Given the description of an element on the screen output the (x, y) to click on. 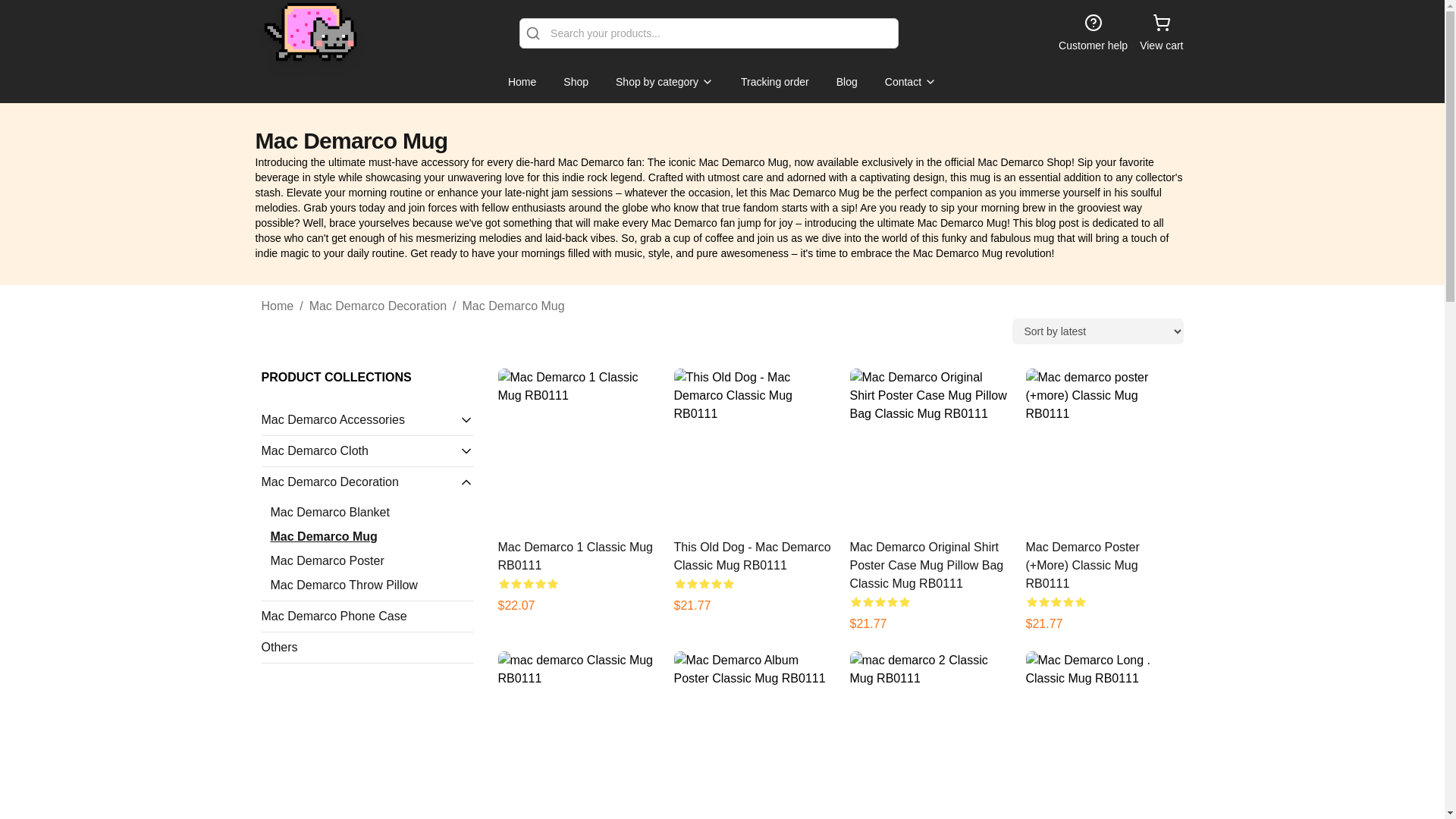
Blog (846, 81)
Shop by category (664, 81)
Home (277, 306)
Tracking order (775, 81)
Mac Demarco Accessories (359, 420)
customer help (1092, 33)
view cart (1161, 33)
Mac Demarco Cloth (359, 451)
Contact (910, 81)
Mac Demarco Decoration (377, 306)
